Given the description of an element on the screen output the (x, y) to click on. 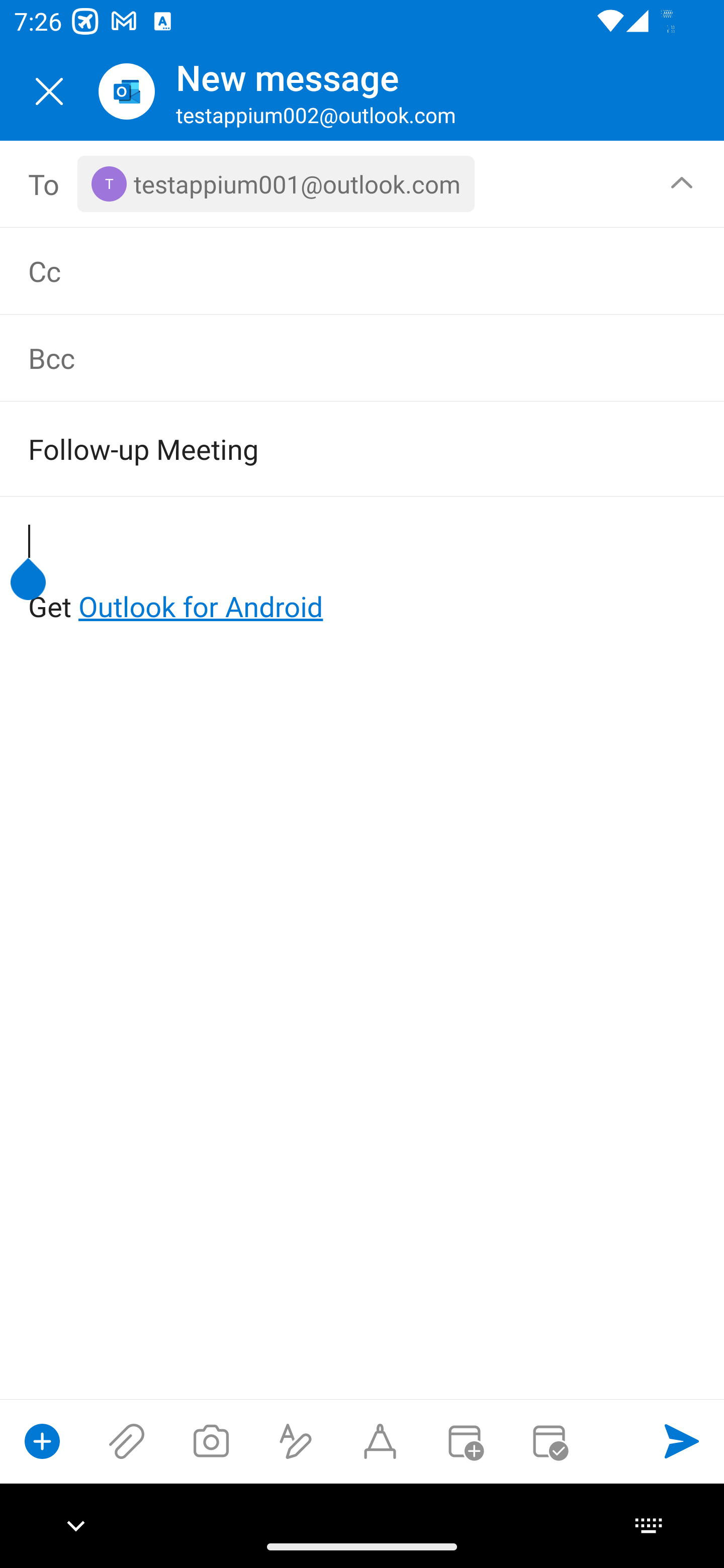
Close (49, 91)
To, 1 recipient <testappium001@outlook.com> (362, 184)
Follow-up Meeting (333, 448)


Get Outlook for Android (363, 573)
Show compose options (42, 1440)
Attach files (126, 1440)
Take a photo (210, 1440)
Show formatting options (295, 1440)
Start Ink compose (380, 1440)
Convert to event (464, 1440)
Send availability (548, 1440)
Send (681, 1440)
